Given the description of an element on the screen output the (x, y) to click on. 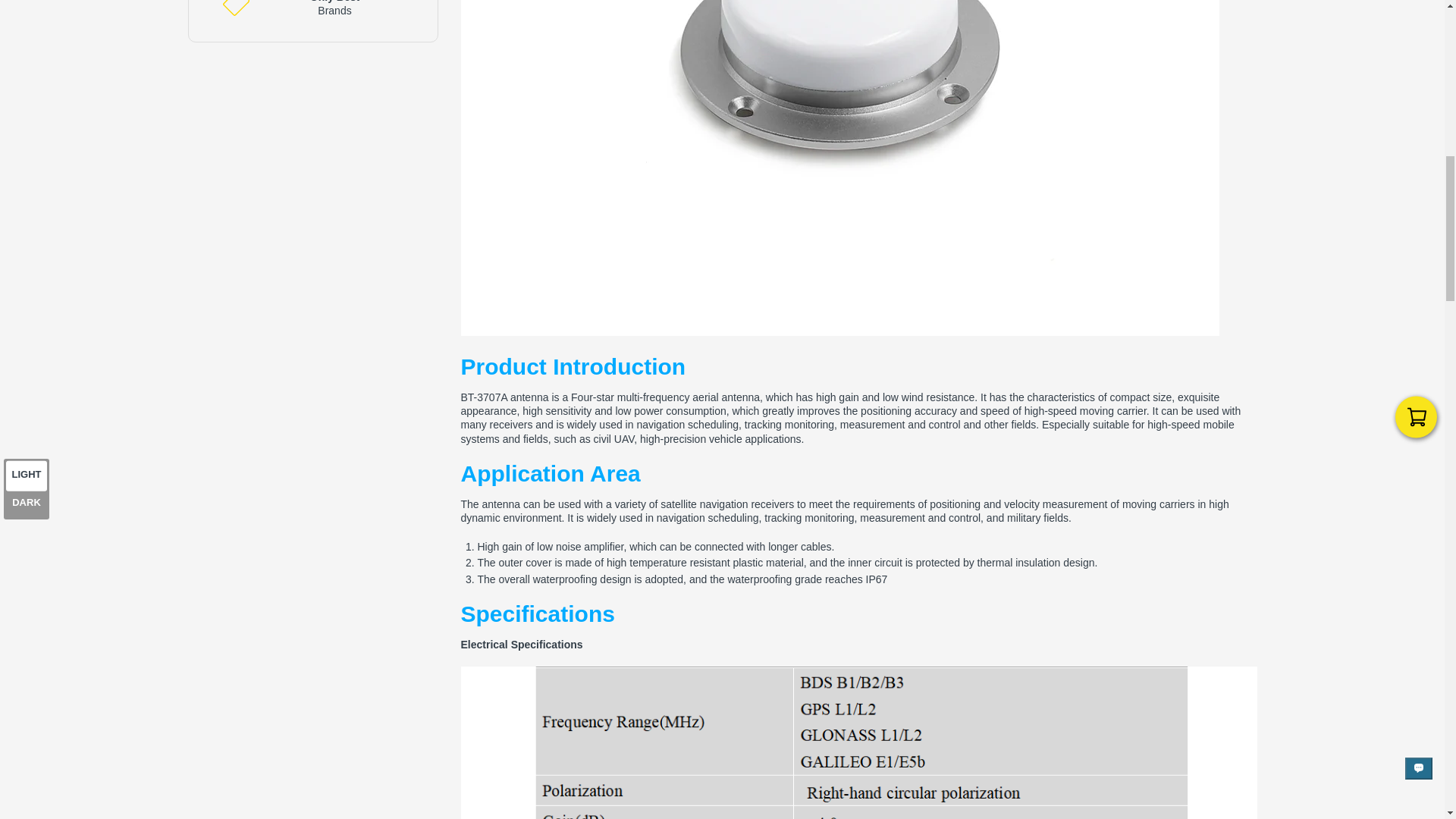
electro-brands-icon (235, 7)
